Given the description of an element on the screen output the (x, y) to click on. 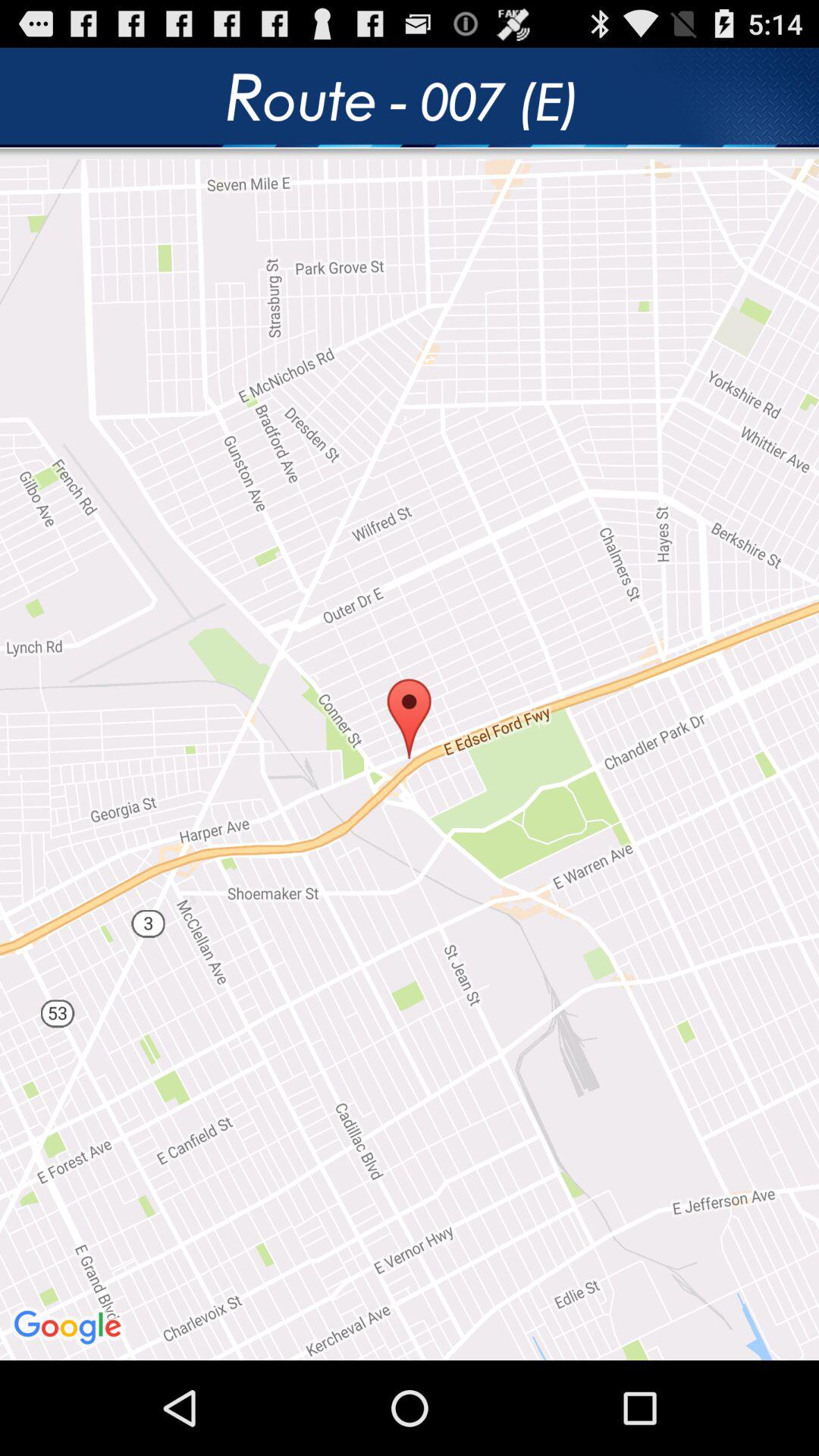
tap the item at the center (409, 759)
